Given the description of an element on the screen output the (x, y) to click on. 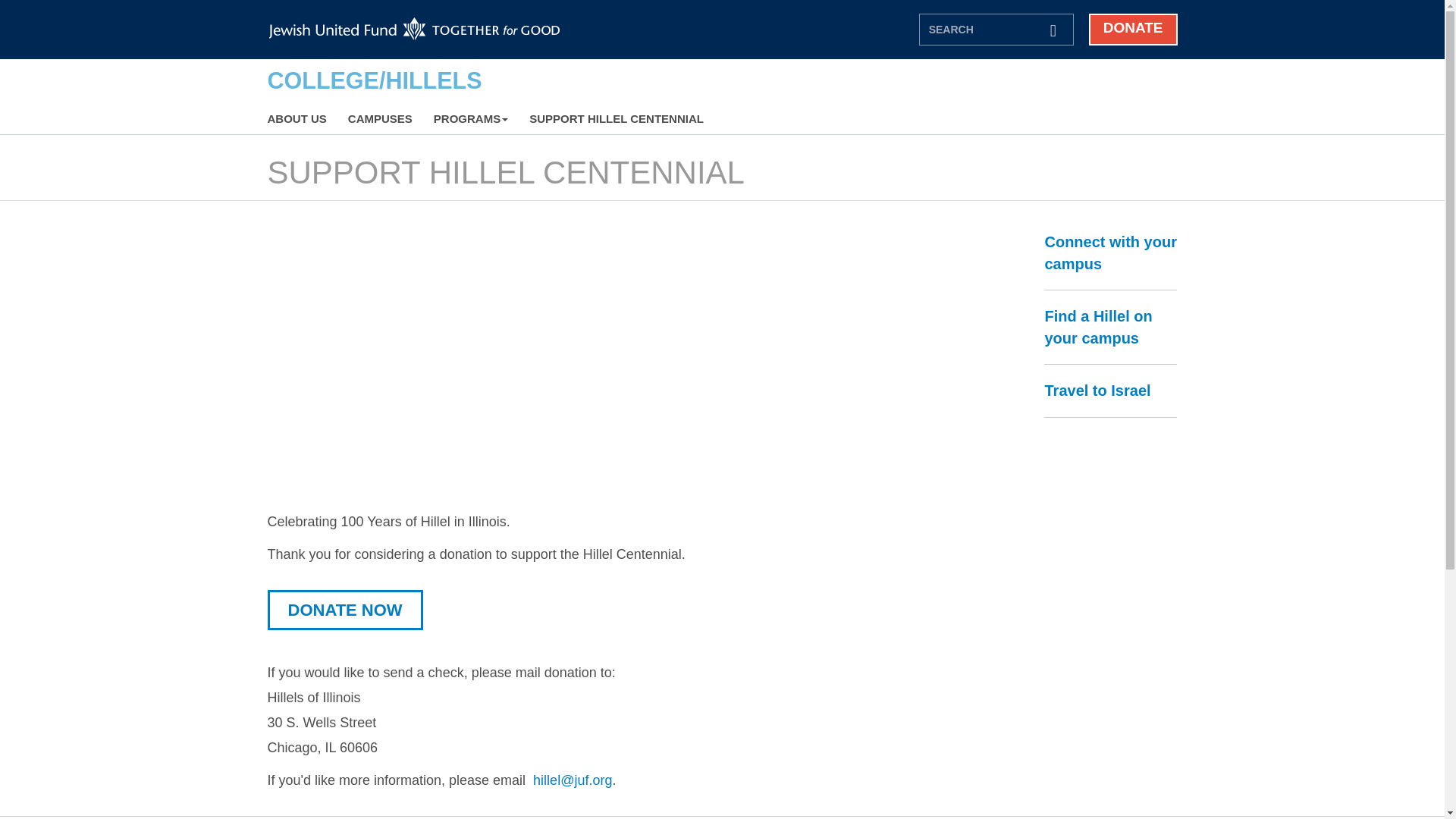
Travel to Israel (1096, 390)
CAMPUSES (379, 119)
ABOUT US (296, 119)
DONATE (1133, 29)
DONATE NOW (344, 609)
PROGRAMS (470, 119)
Donate Now (344, 609)
Contact Us   (571, 780)
Find a Hillel on your campus (1097, 326)
JUF Home (414, 29)
SUPPORT HILLEL CENTENNIAL (616, 119)
Connect with your campus (1109, 252)
